Given the description of an element on the screen output the (x, y) to click on. 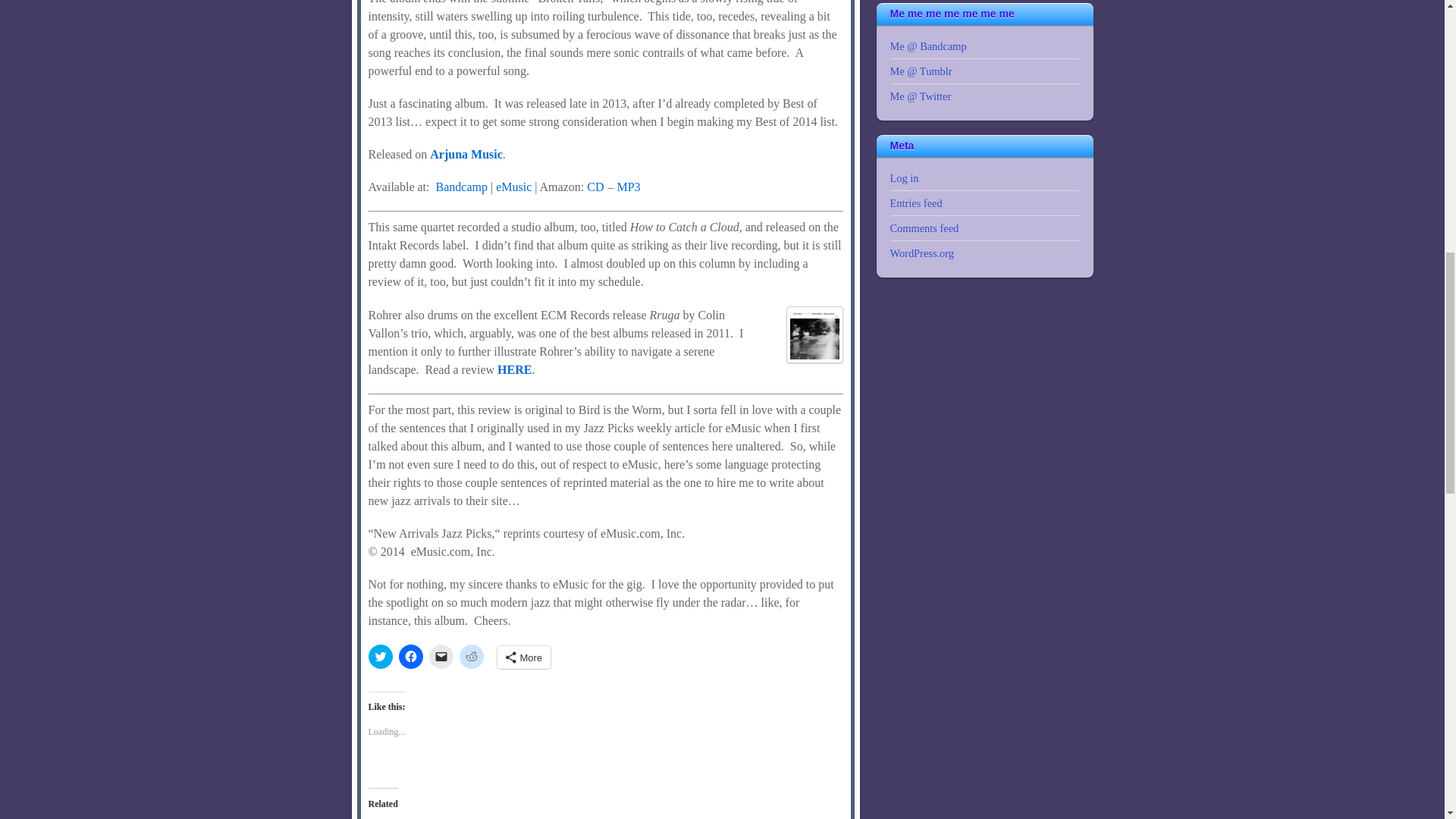
link to purchase on emusic (513, 186)
Click to share on Twitter (380, 656)
Click to share on Facebook (410, 656)
link to label site (465, 154)
MP3 (627, 186)
HERE (514, 368)
Click to share on Reddit (471, 656)
link to review on bird is the worm (514, 368)
Click to email a link to a friend (440, 656)
eMusic (513, 186)
